Given the description of an element on the screen output the (x, y) to click on. 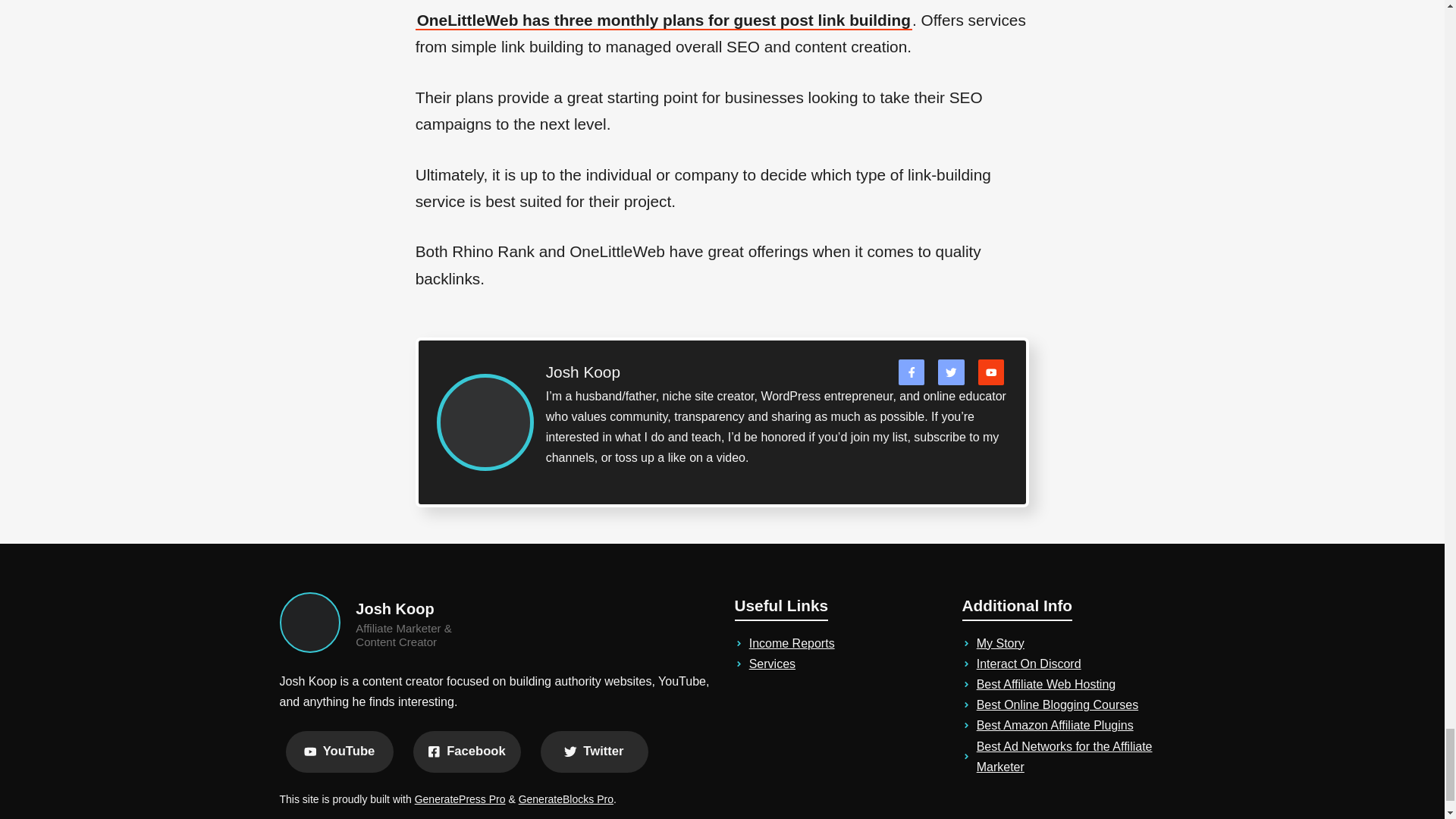
My Story (1000, 643)
YouTube (339, 752)
Income Reports (791, 643)
josh (309, 622)
GeneratePress Pro (459, 799)
Services (771, 663)
Facebook (465, 752)
Twitter (593, 752)
GenerateBlocks Pro (565, 799)
